Given the description of an element on the screen output the (x, y) to click on. 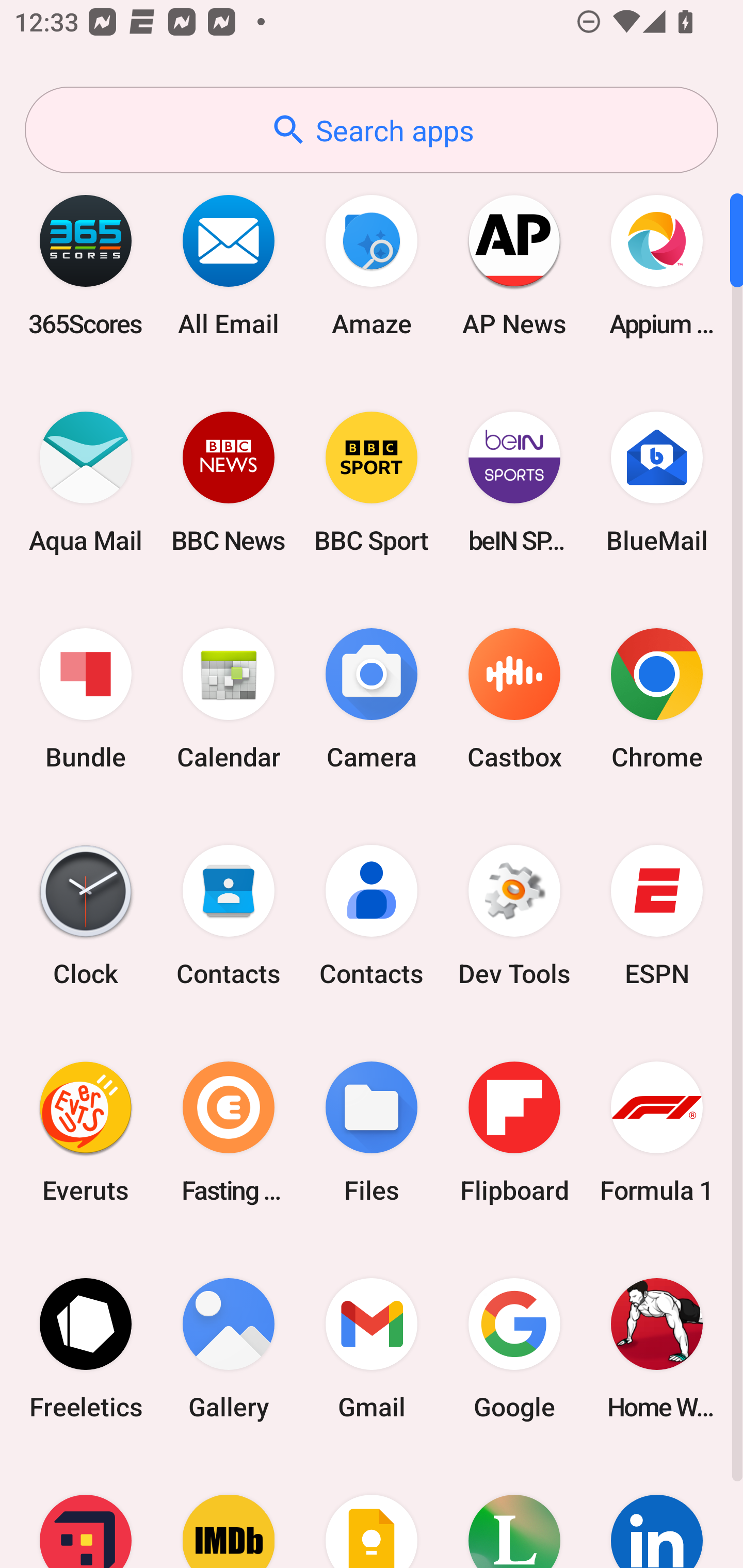
  Search apps (371, 130)
365Scores (85, 264)
All Email (228, 264)
Amaze (371, 264)
AP News (514, 264)
Appium Settings (656, 264)
Aqua Mail (85, 482)
BBC News (228, 482)
BBC Sport (371, 482)
beIN SPORTS (514, 482)
BlueMail (656, 482)
Bundle (85, 699)
Calendar (228, 699)
Camera (371, 699)
Castbox (514, 699)
Chrome (656, 699)
Clock (85, 915)
Contacts (228, 915)
Contacts (371, 915)
Dev Tools (514, 915)
ESPN (656, 915)
Everuts (85, 1131)
Fasting Coach (228, 1131)
Files (371, 1131)
Flipboard (514, 1131)
Formula 1 (656, 1131)
Freeletics (85, 1348)
Gallery (228, 1348)
Gmail (371, 1348)
Google (514, 1348)
Home Workout (656, 1348)
Hotels.com (85, 1512)
IMDb (228, 1512)
Keep Notes (371, 1512)
Lifesum (514, 1512)
LinkedIn (656, 1512)
